Given the description of an element on the screen output the (x, y) to click on. 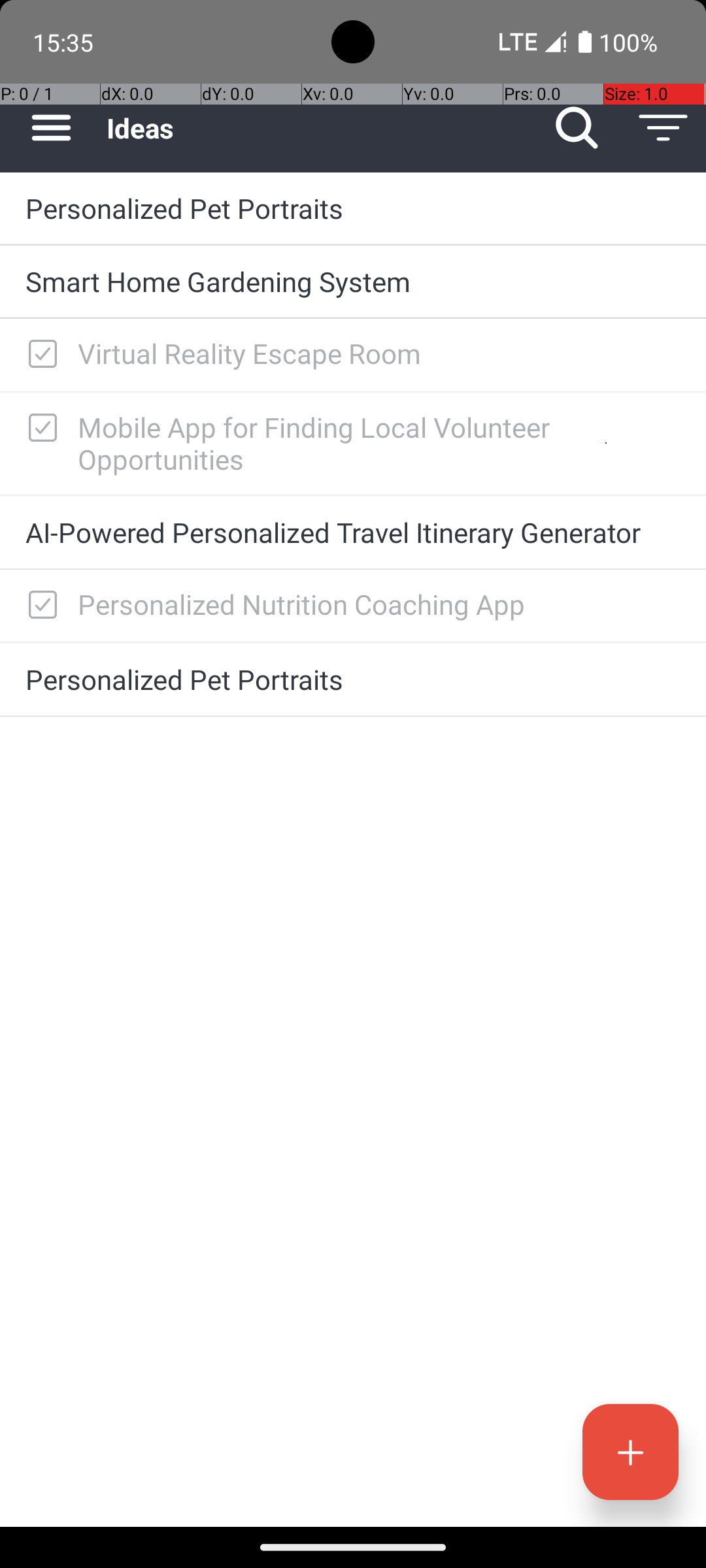
Personalized Pet Portraits Element type: android.widget.TextView (352, 207)
Smart Home Gardening System Element type: android.widget.TextView (352, 280)
to-do: Virtual Reality Escape Room Element type: android.widget.CheckBox (38, 354)
Virtual Reality Escape Room Element type: android.widget.TextView (378, 352)
to-do: Mobile App for Finding Local Volunteer Opportunities Element type: android.widget.CheckBox (38, 428)
Mobile App for Finding Local Volunteer Opportunities Element type: android.widget.TextView (378, 442)
AI-Powered Personalized Travel Itinerary Generator Element type: android.widget.TextView (352, 531)
to-do: Personalized Nutrition Coaching App Element type: android.widget.CheckBox (38, 605)
Personalized Nutrition Coaching App Element type: android.widget.TextView (378, 603)
